Given the description of an element on the screen output the (x, y) to click on. 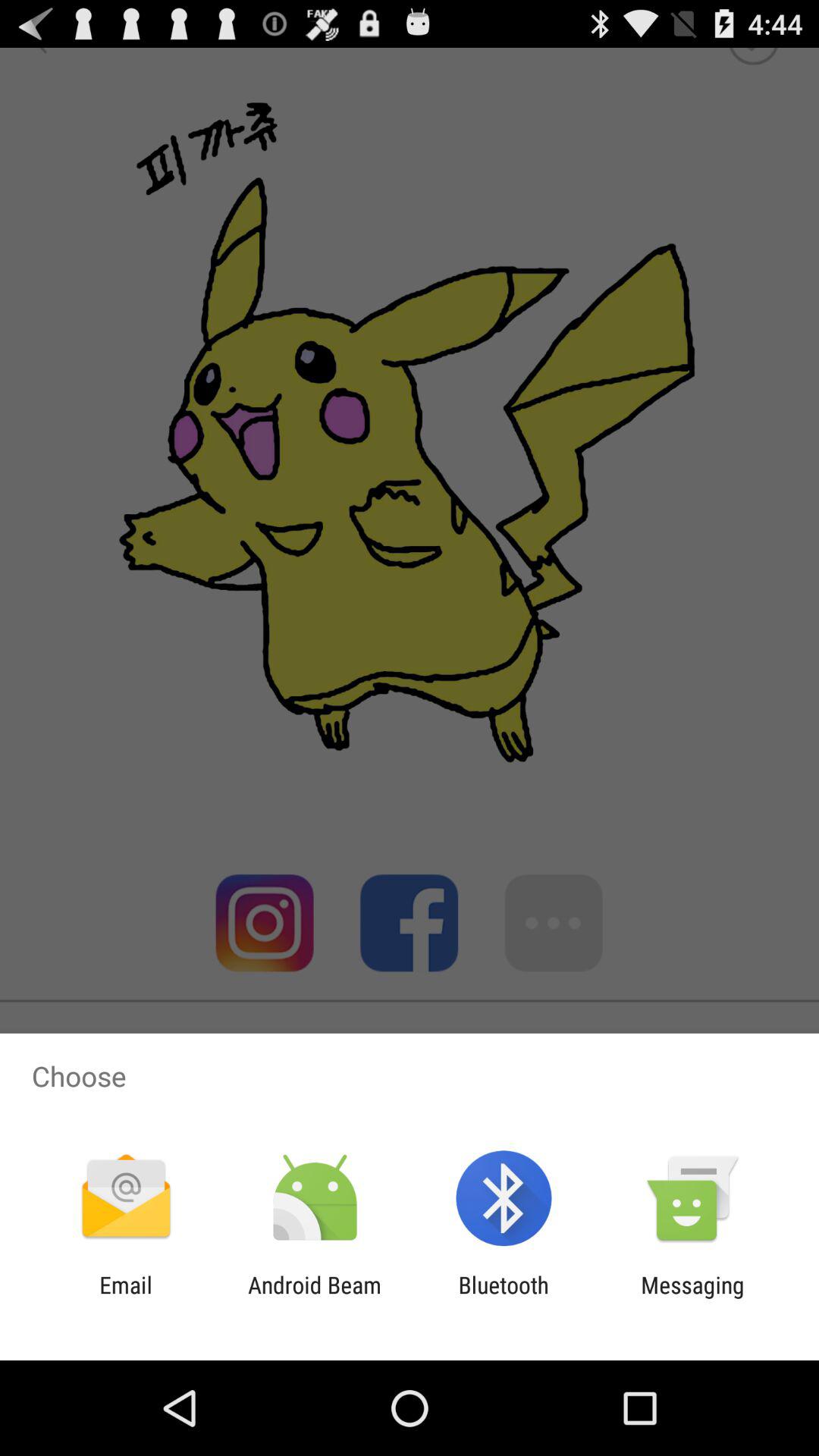
press app to the left of the messaging app (503, 1298)
